Given the description of an element on the screen output the (x, y) to click on. 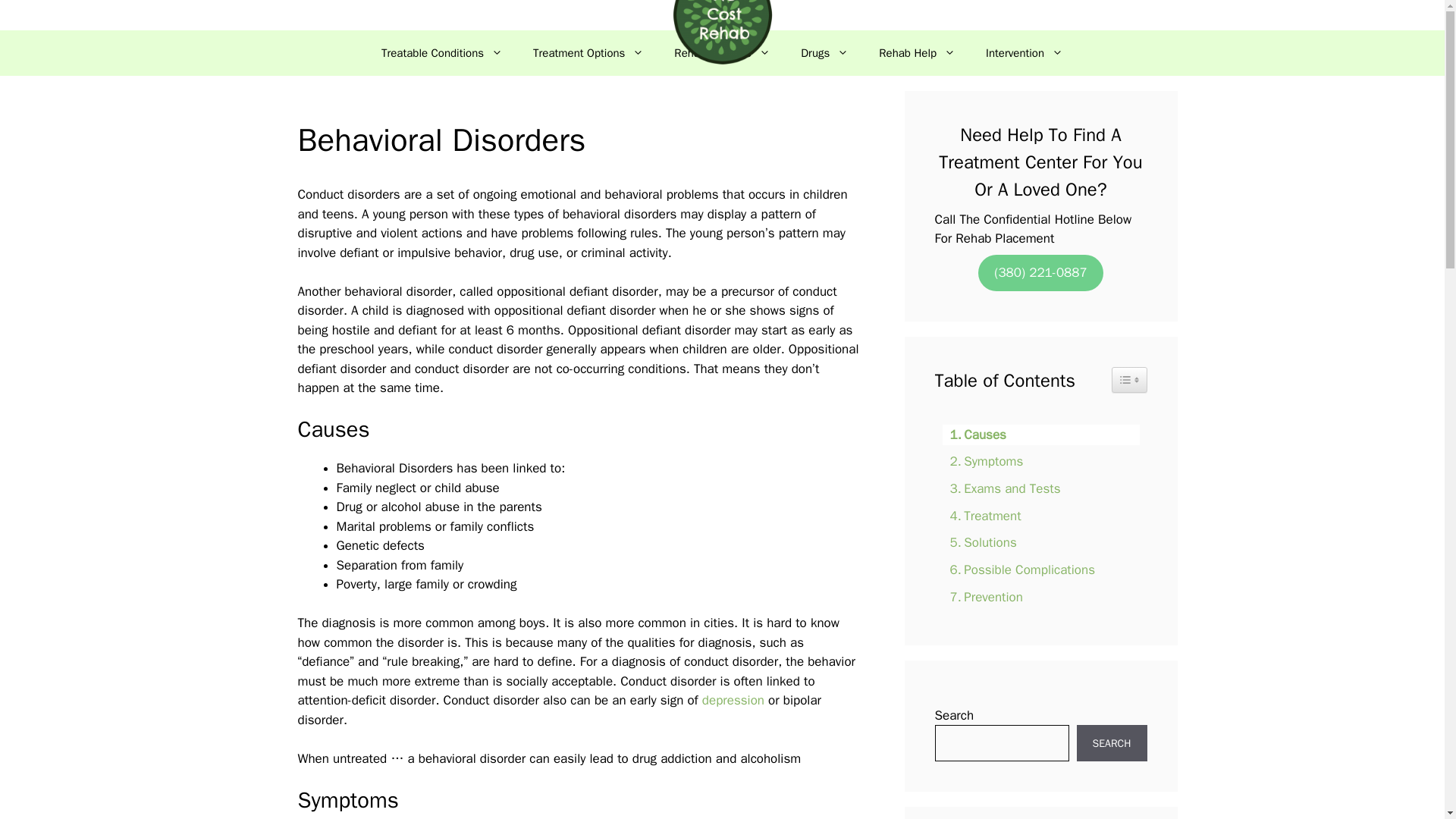
Possible Complications (1018, 569)
Prevention (982, 597)
Solutions (979, 542)
Causes (974, 435)
Treatment (981, 516)
depression (732, 700)
Exams and Tests (1000, 488)
Symptoms (982, 461)
